Given the description of an element on the screen output the (x, y) to click on. 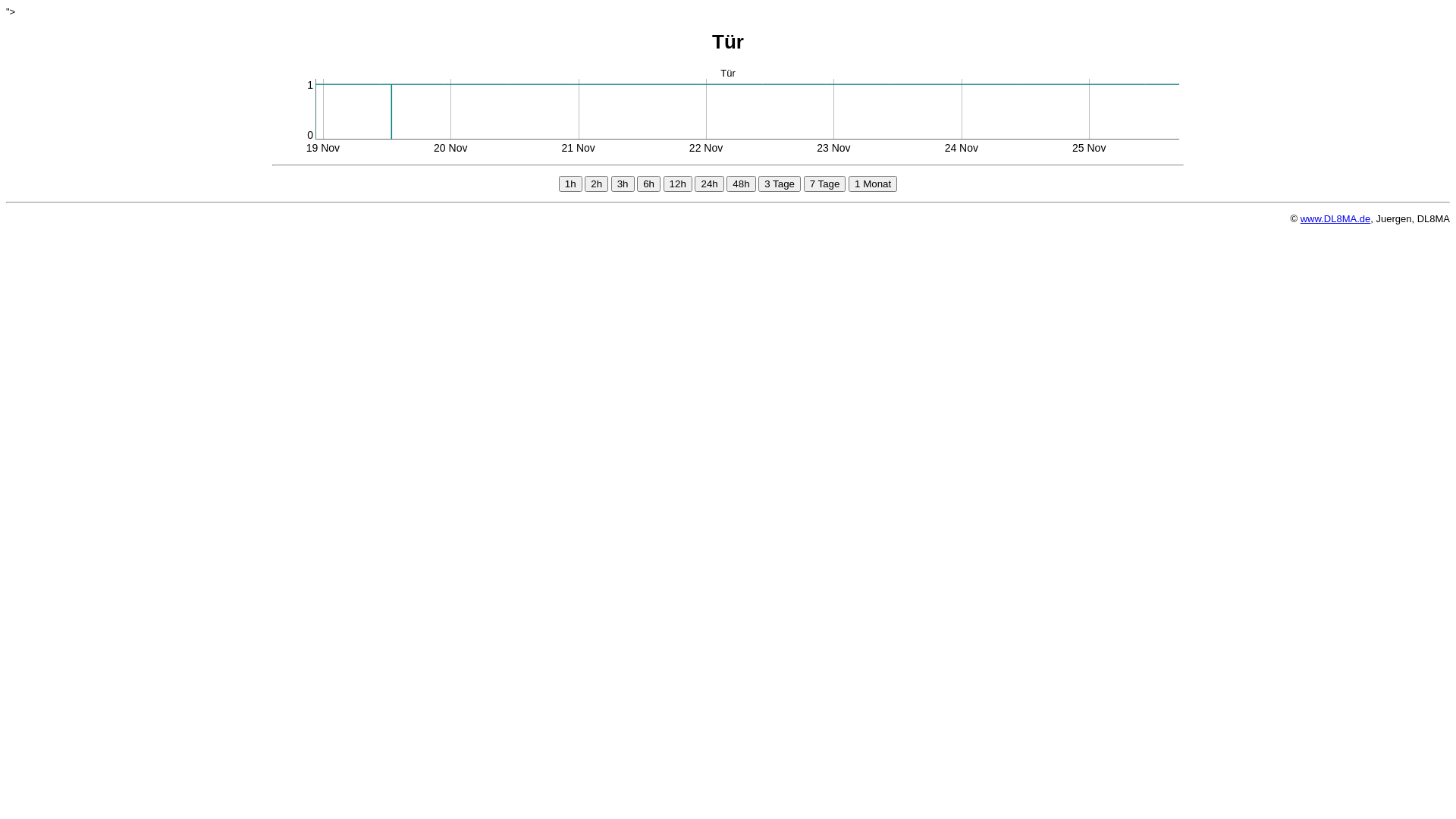
12h Element type: text (677, 183)
48h Element type: text (740, 183)
2h Element type: text (596, 183)
1h Element type: text (570, 183)
3h Element type: text (622, 183)
7 Tage Element type: text (824, 183)
3 Tage Element type: text (779, 183)
24h Element type: text (708, 183)
www.DL8MA.de Element type: text (1335, 218)
6h Element type: text (648, 183)
1 Monat Element type: text (872, 183)
